Given the description of an element on the screen output the (x, y) to click on. 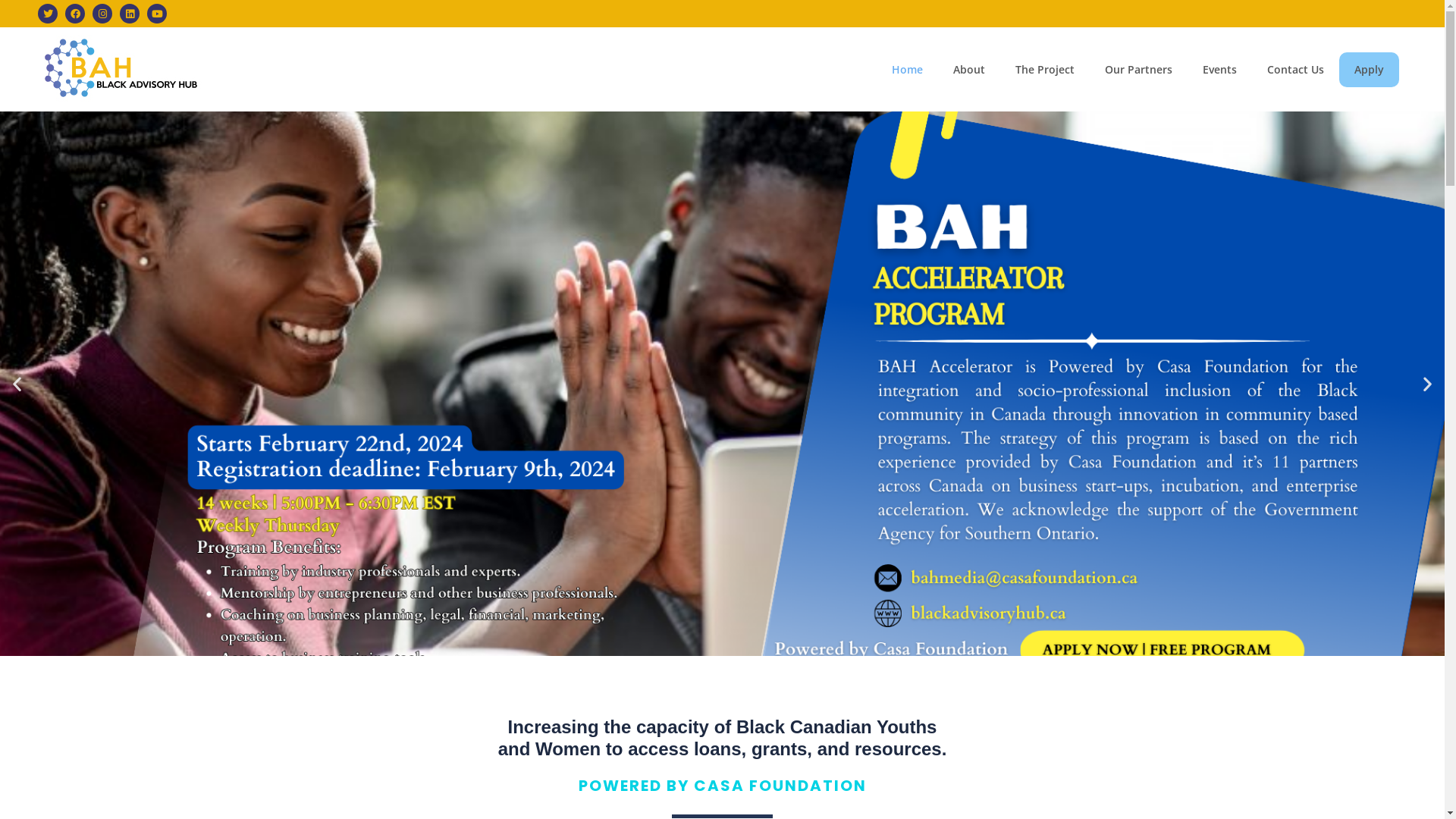
About Element type: text (969, 68)
Home Element type: text (907, 68)
Events Element type: text (1219, 68)
Contact Us Element type: text (1295, 68)
Apply Element type: text (1369, 68)
The Project Element type: text (1044, 68)
Our Partners Element type: text (1138, 68)
